Given the description of an element on the screen output the (x, y) to click on. 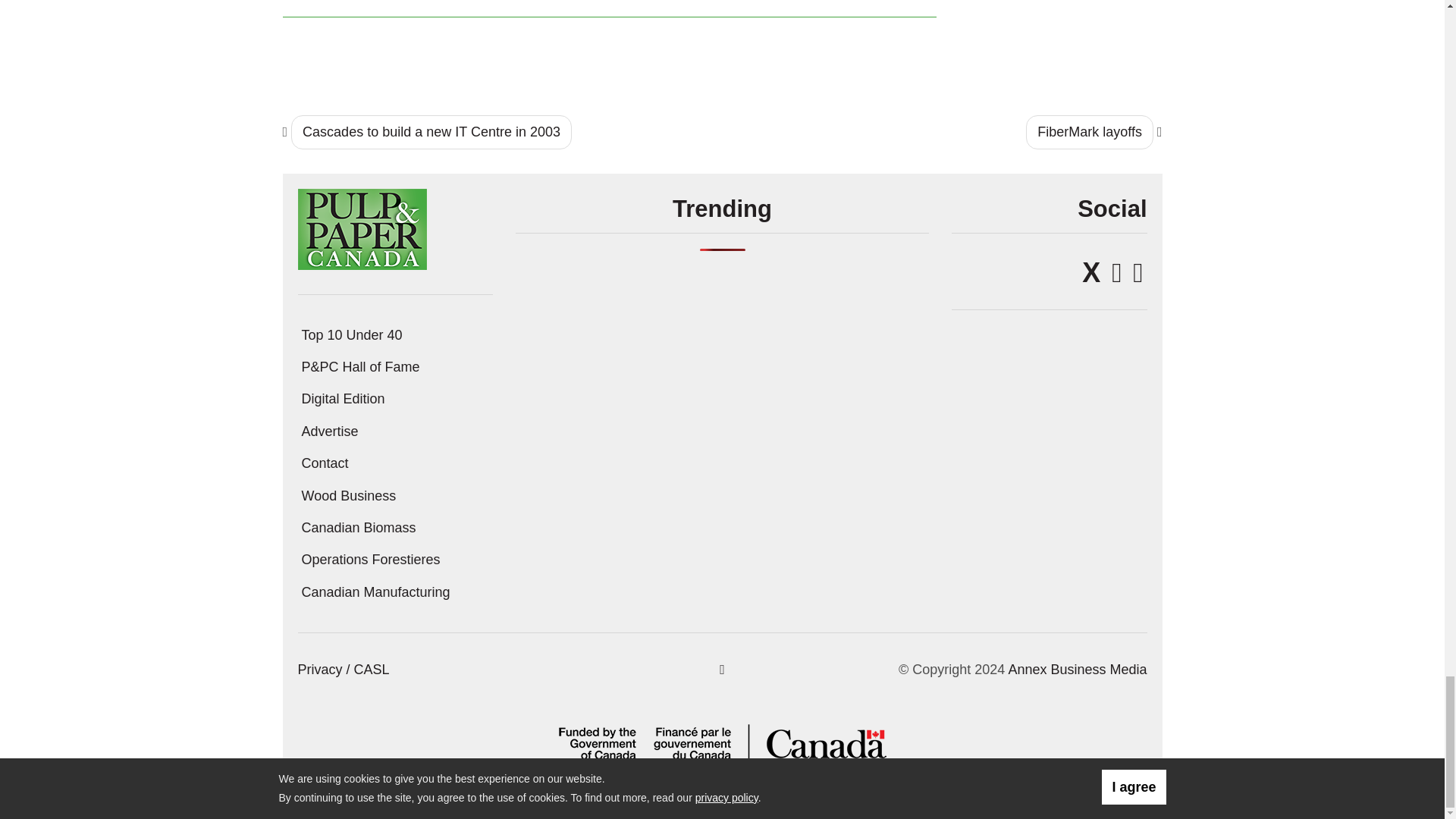
Annex Business Media (1077, 669)
Pulp and Paper Canada (361, 227)
scroll to top (722, 669)
